Given the description of an element on the screen output the (x, y) to click on. 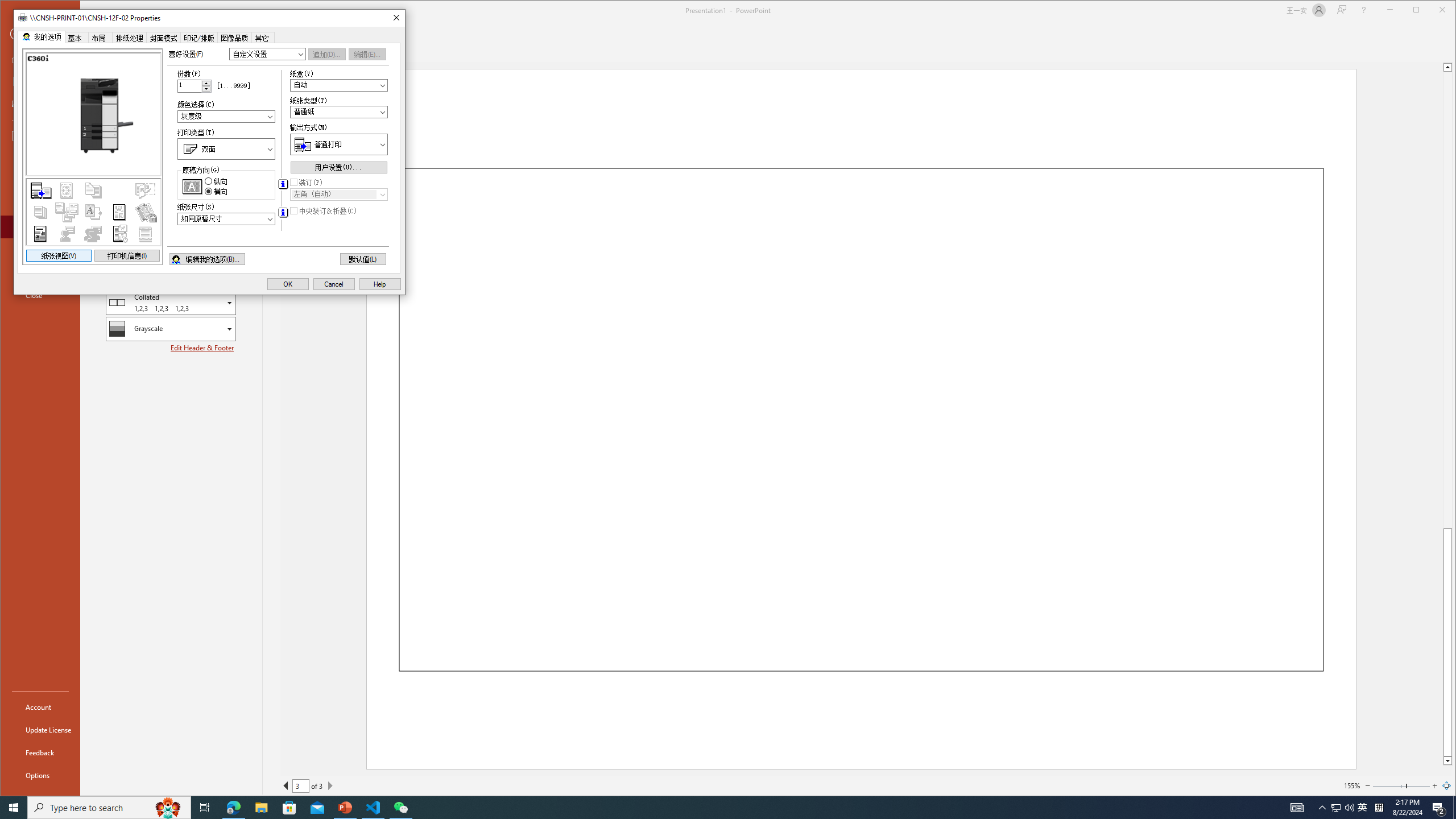
Update License (40, 729)
WeChat - 1 running window (400, 807)
